Given the description of an element on the screen output the (x, y) to click on. 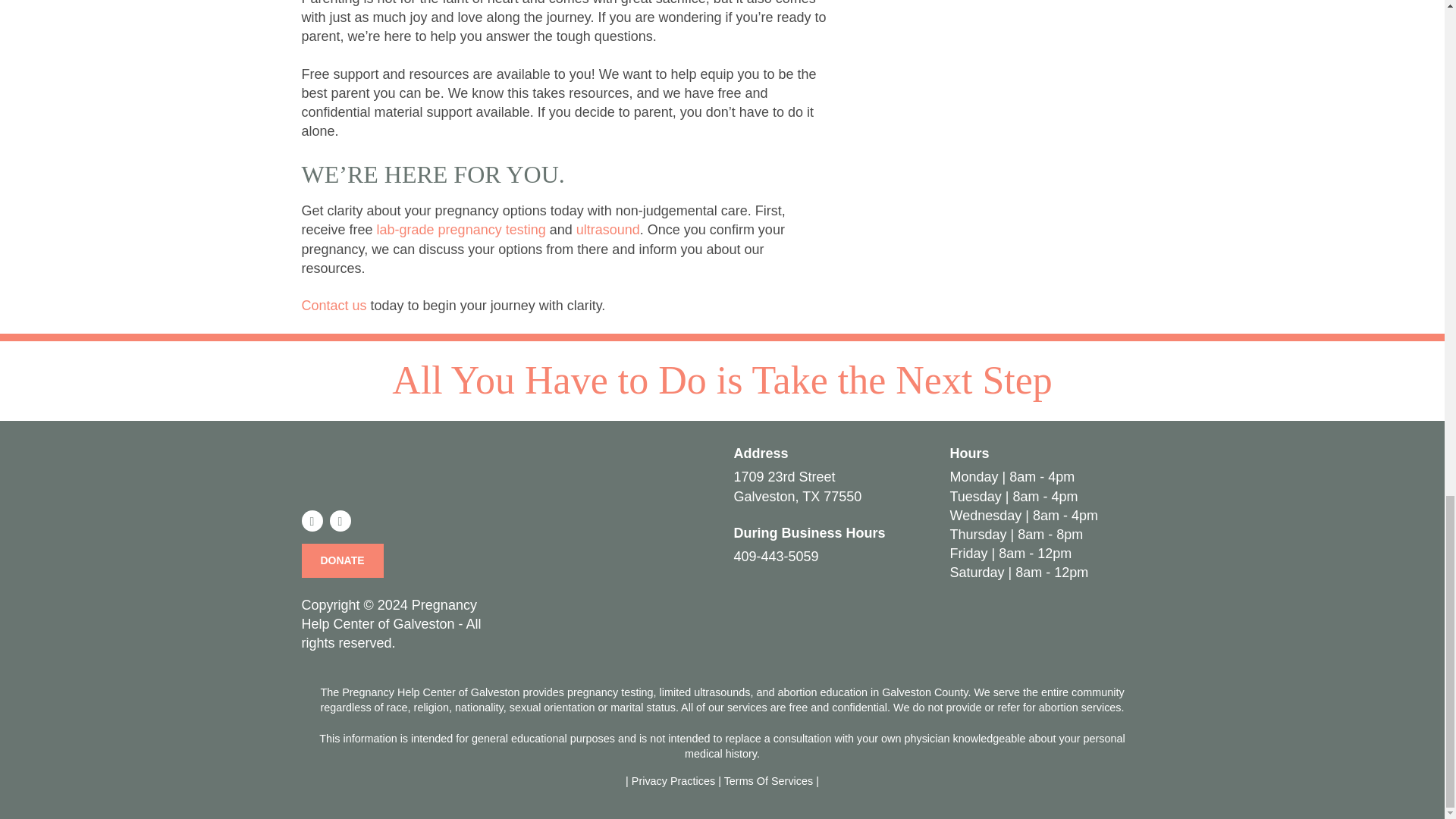
Contact us (333, 305)
ultrasound (608, 229)
lab-grade pregnancy testing (461, 229)
